Given the description of an element on the screen output the (x, y) to click on. 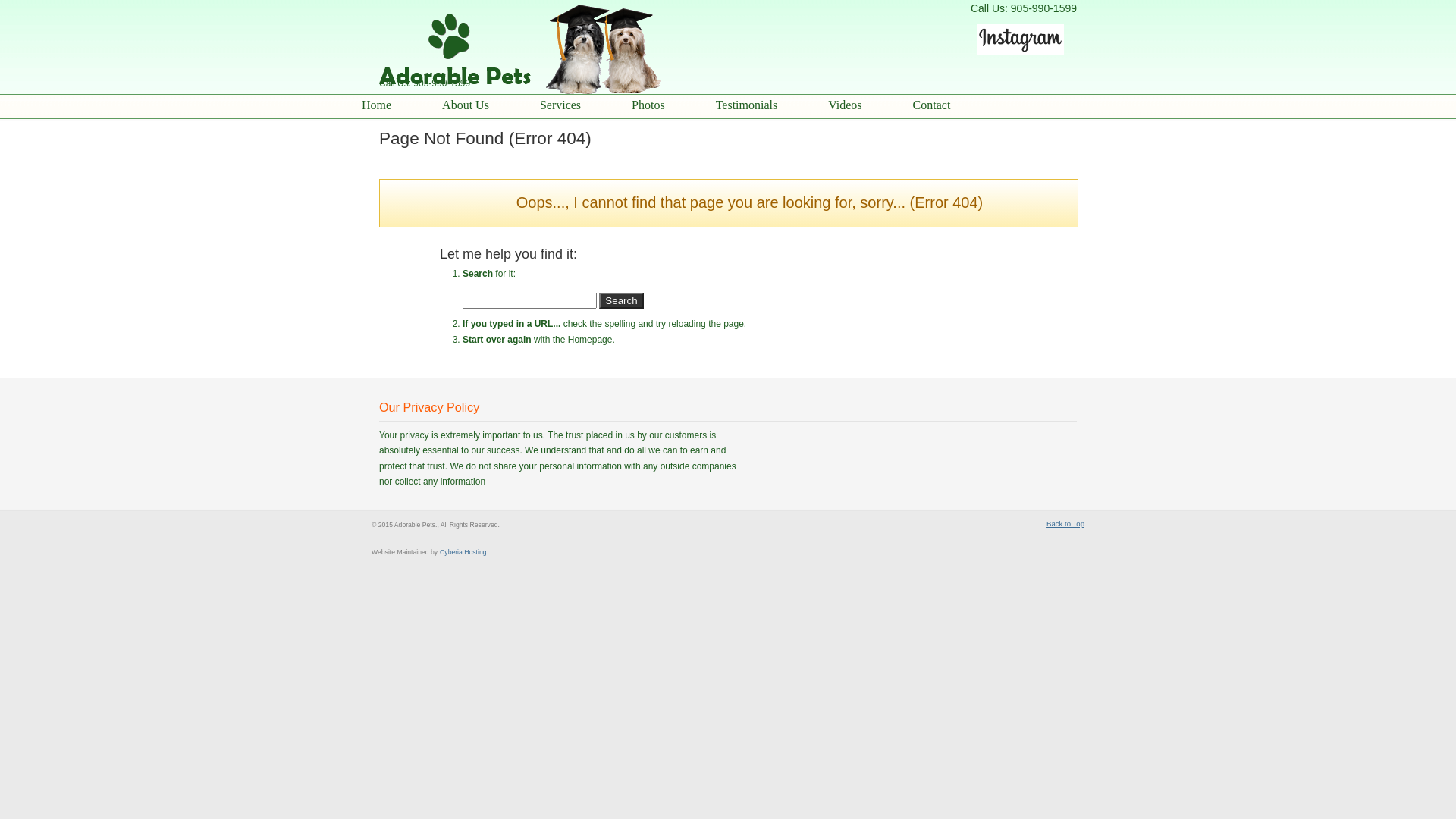
Services Element type: text (586, 105)
Search Element type: text (621, 300)
      Element type: text (1026, 55)
Testimonials Element type: text (773, 105)
Back to Top Element type: text (1065, 523)
Homepage Element type: text (589, 339)
Videos Element type: text (871, 105)
Adorable Pets Element type: text (530, 49)
About Us Element type: text (492, 105)
Contact Element type: text (958, 105)
Home Element type: text (402, 105)
Cyberia Hosting Element type: text (462, 550)
Photos Element type: text (674, 105)
